Given the description of an element on the screen output the (x, y) to click on. 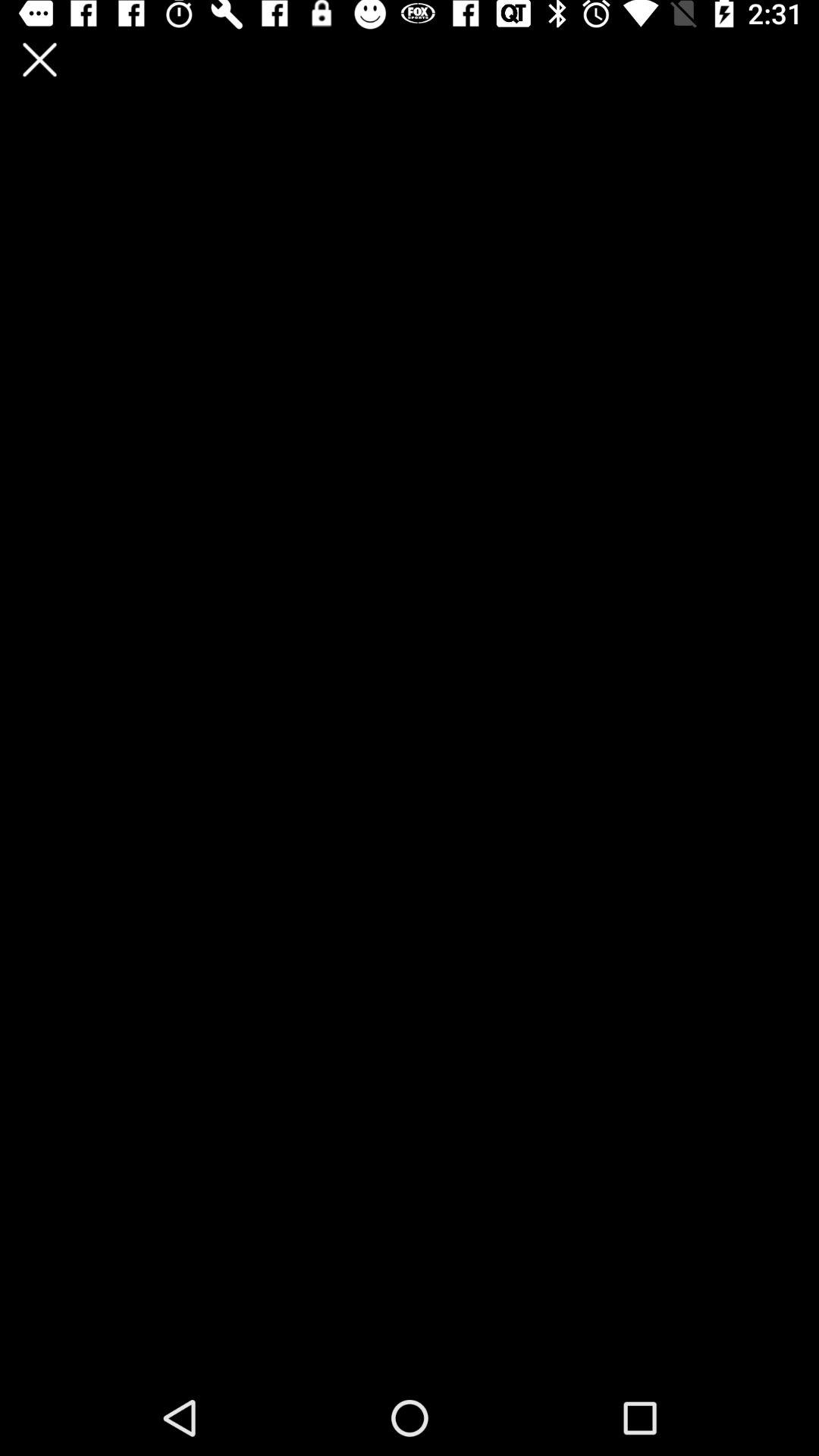
switch on the close (39, 59)
